Given the description of an element on the screen output the (x, y) to click on. 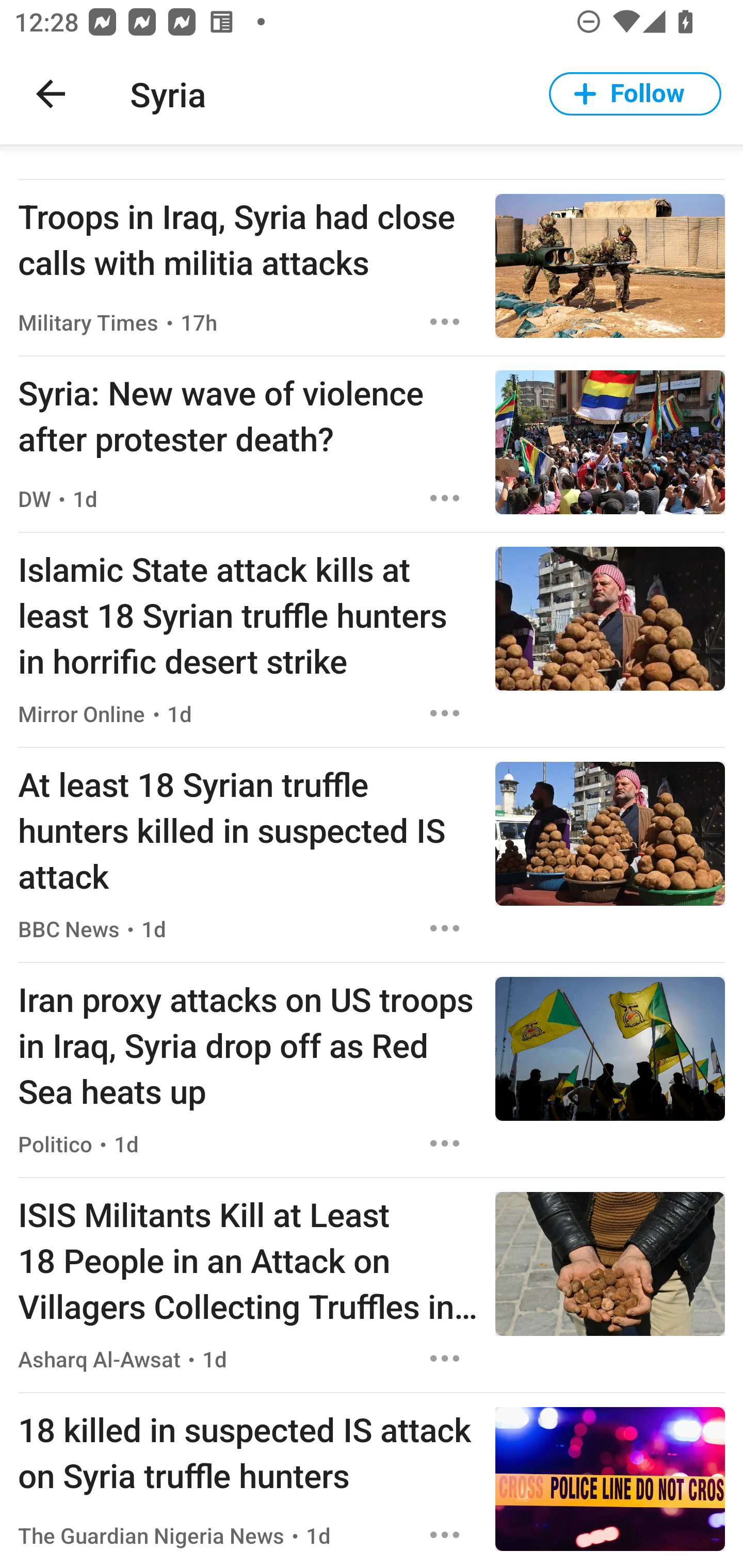
Navigate up (50, 93)
Follow (635, 94)
Options (444, 321)
Options (444, 498)
Options (444, 713)
Options (444, 928)
Options (444, 1143)
Options (444, 1358)
Options (444, 1535)
